Given the description of an element on the screen output the (x, y) to click on. 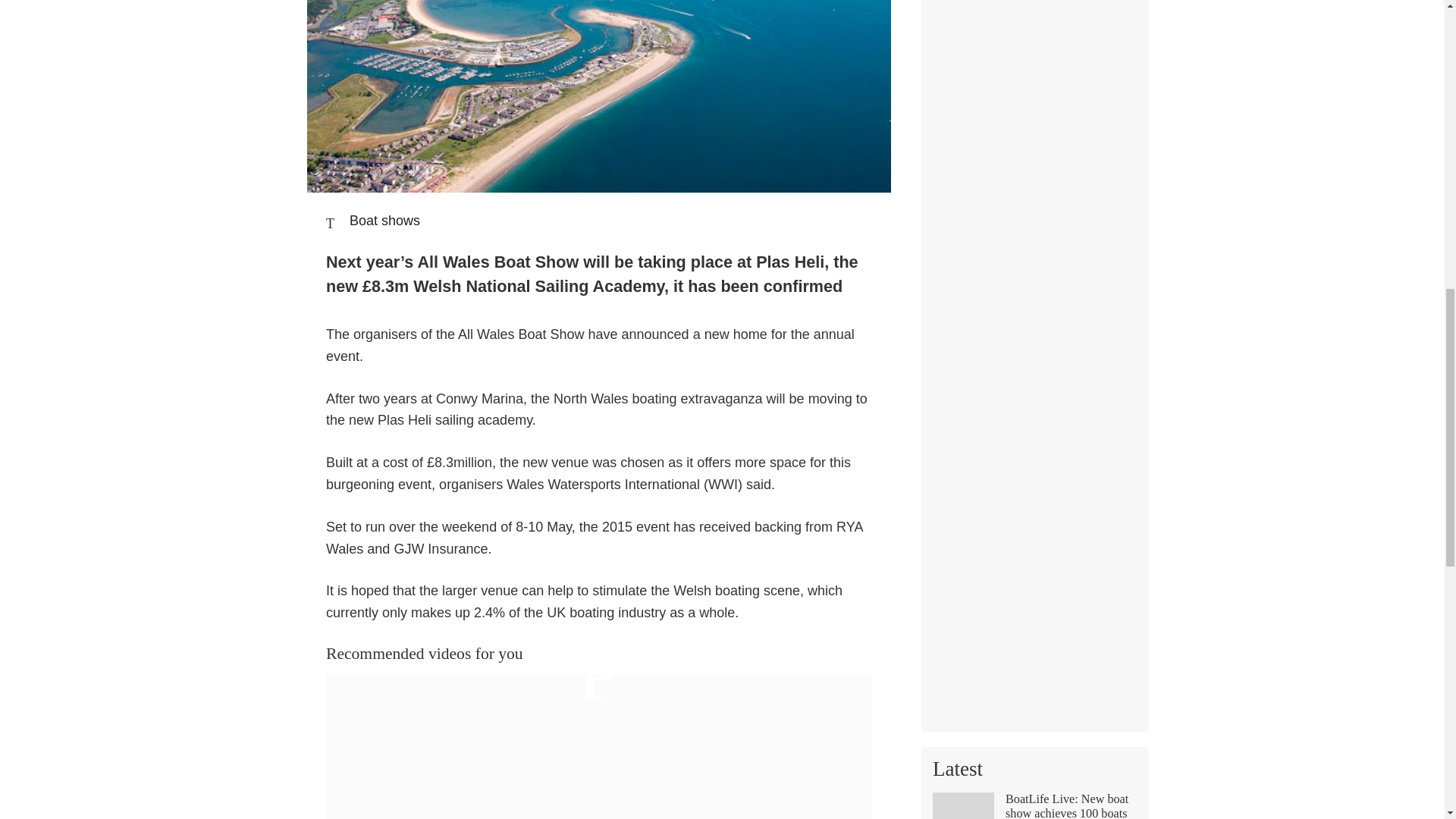
BoatLife Live: New boat show achieves 100 boats goal (1035, 805)
